Given the description of an element on the screen output the (x, y) to click on. 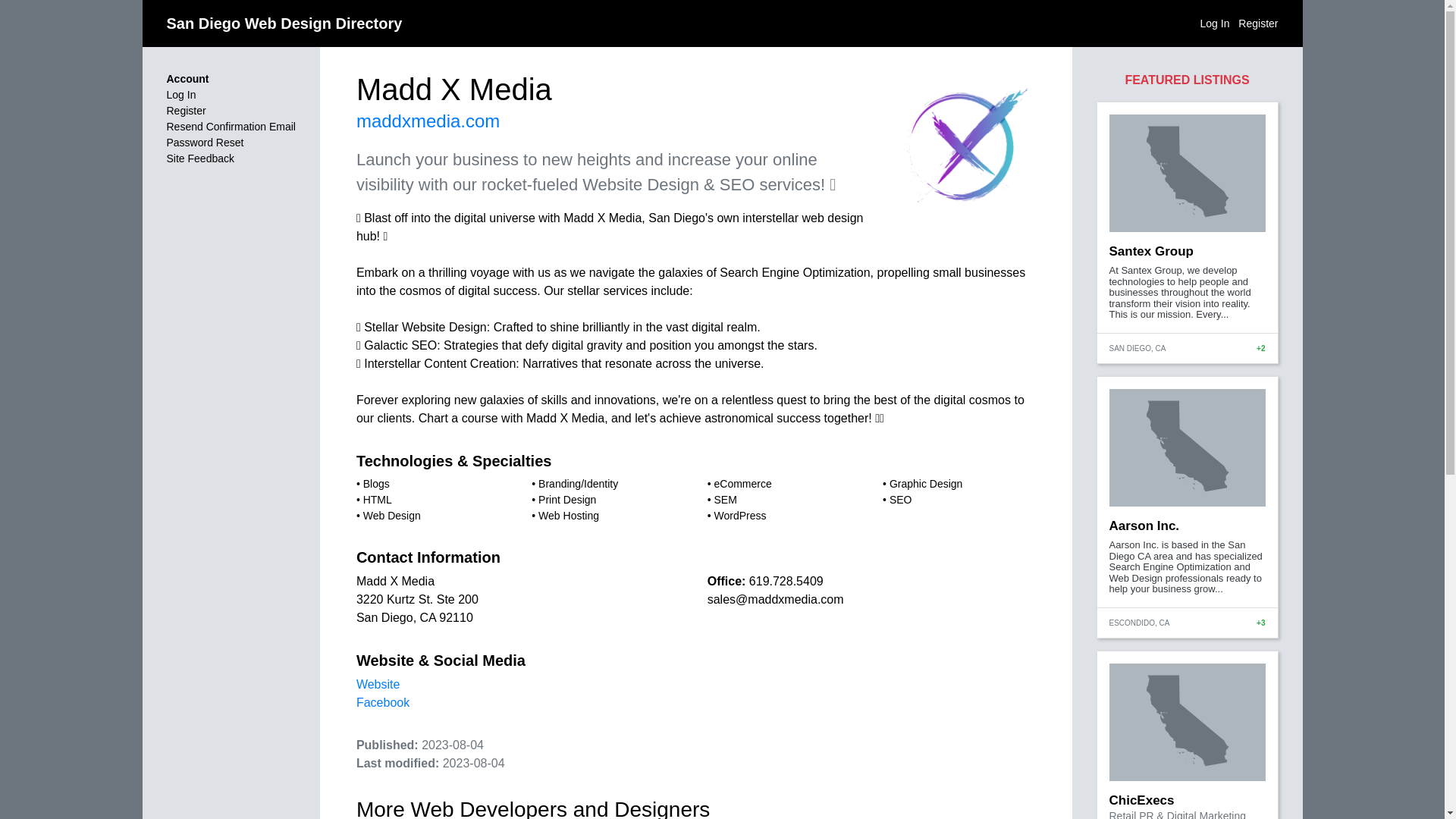
maddxmedia.com (427, 120)
Password Reset (205, 142)
Log In (181, 94)
Print Design (566, 499)
Website (378, 684)
Santex Group (1150, 251)
Graphic Design (925, 483)
619.728.5409 (786, 581)
SEM (724, 499)
Blogs (376, 483)
Site Feedback (200, 158)
eCommerce (742, 483)
SEO (900, 499)
WordPress (739, 515)
San Diego Web Design Directory (285, 23)
